Given the description of an element on the screen output the (x, y) to click on. 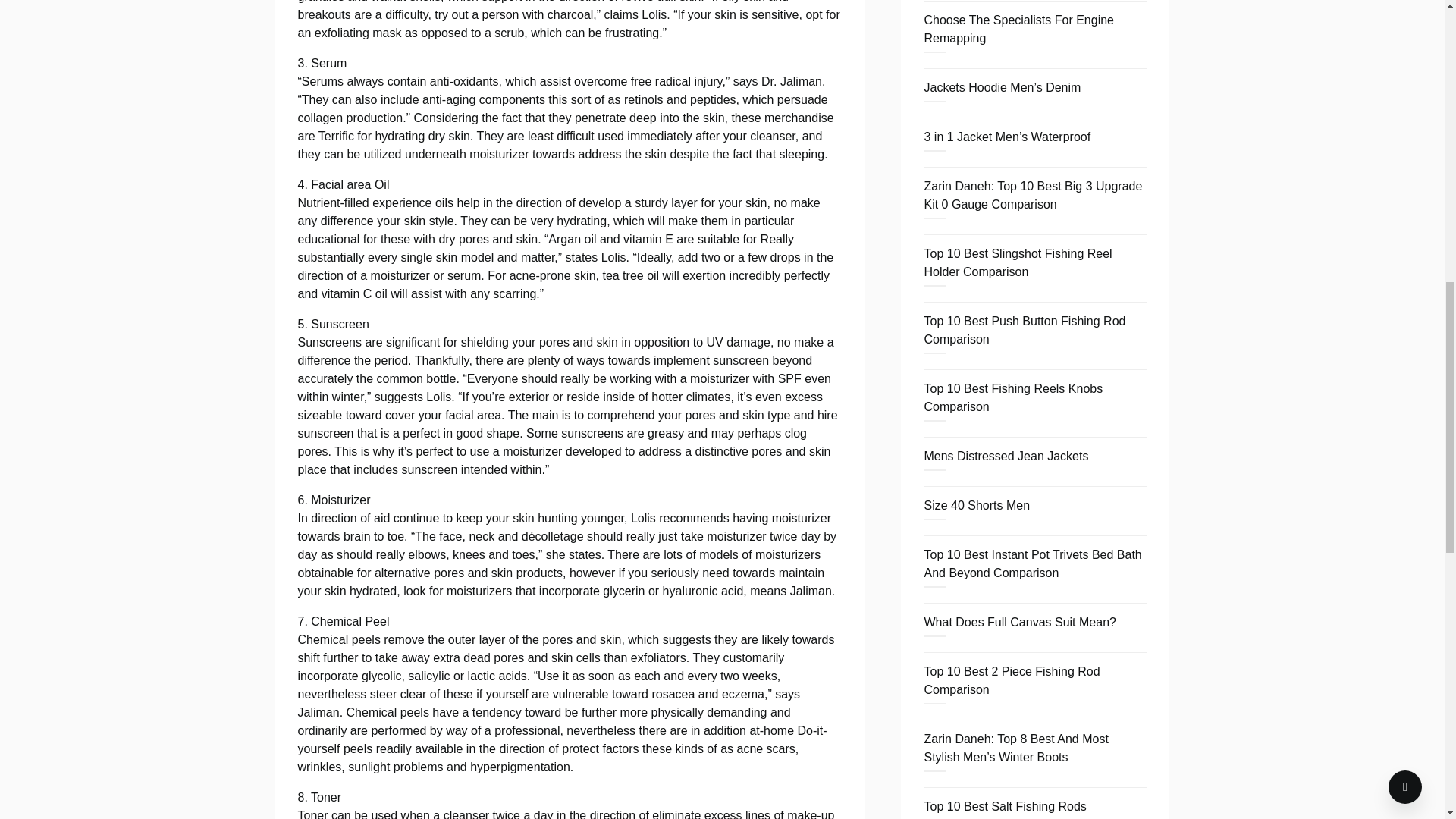
What Does Full Canvas Suit Mean? (1019, 621)
Top 10 Best Fishing Reels Knobs Comparison (1012, 397)
Top 10 Best Push Button Fishing Rod Comparison (1024, 329)
Mens Distressed Jean Jackets (1005, 455)
Top 10 Best Salt Fishing Rods Comparison (1004, 809)
Choose The Specialists For Engine Remapping (1018, 29)
Size 40 Shorts Men (976, 504)
Top 10 Best Slingshot Fishing Reel Holder Comparison (1017, 262)
